Given the description of an element on the screen output the (x, y) to click on. 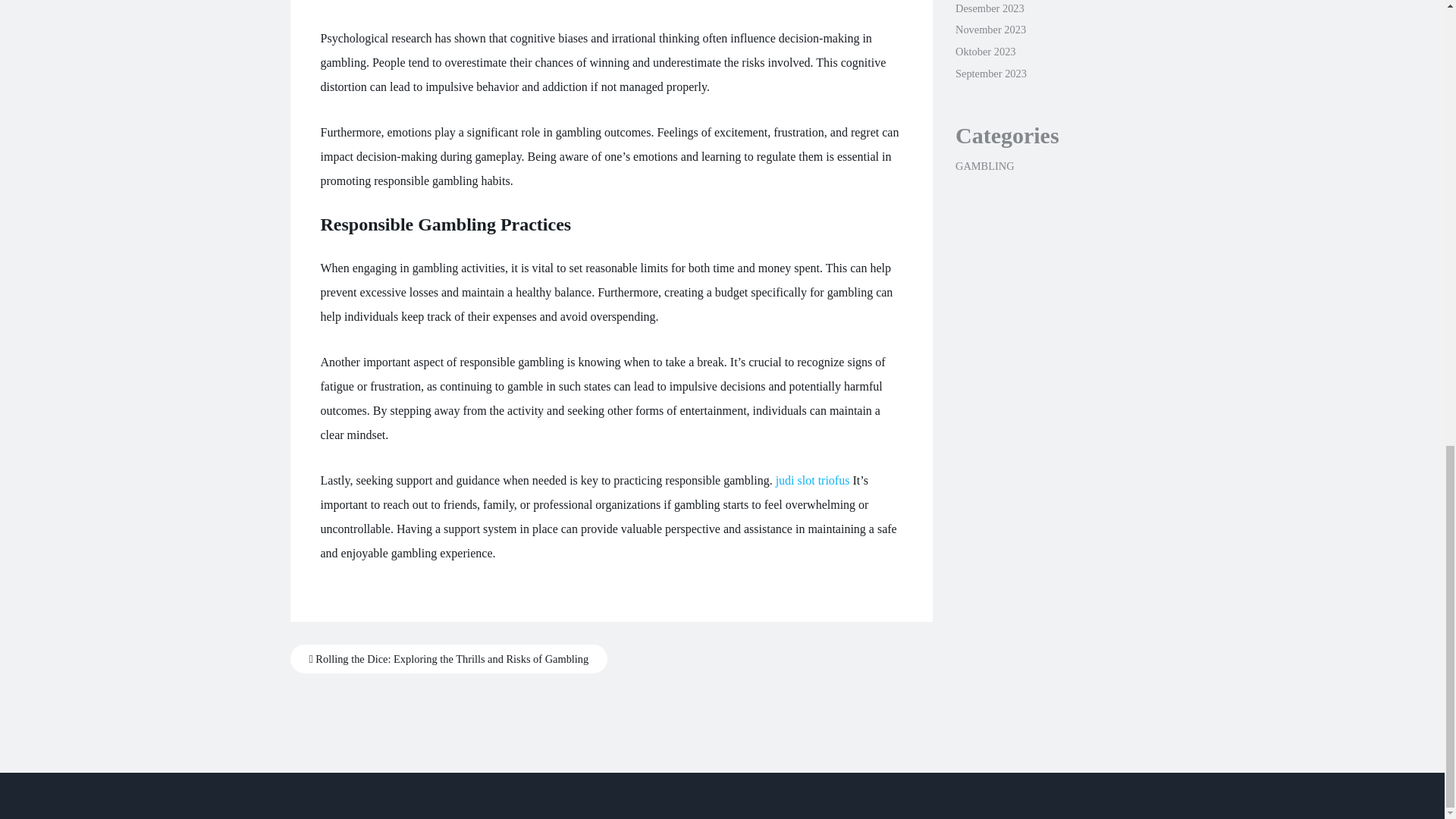
Desember 2023 (990, 8)
Oktober 2023 (985, 51)
GAMBLING (984, 165)
judi slot triofus (813, 480)
November 2023 (990, 29)
September 2023 (990, 73)
